Given the description of an element on the screen output the (x, y) to click on. 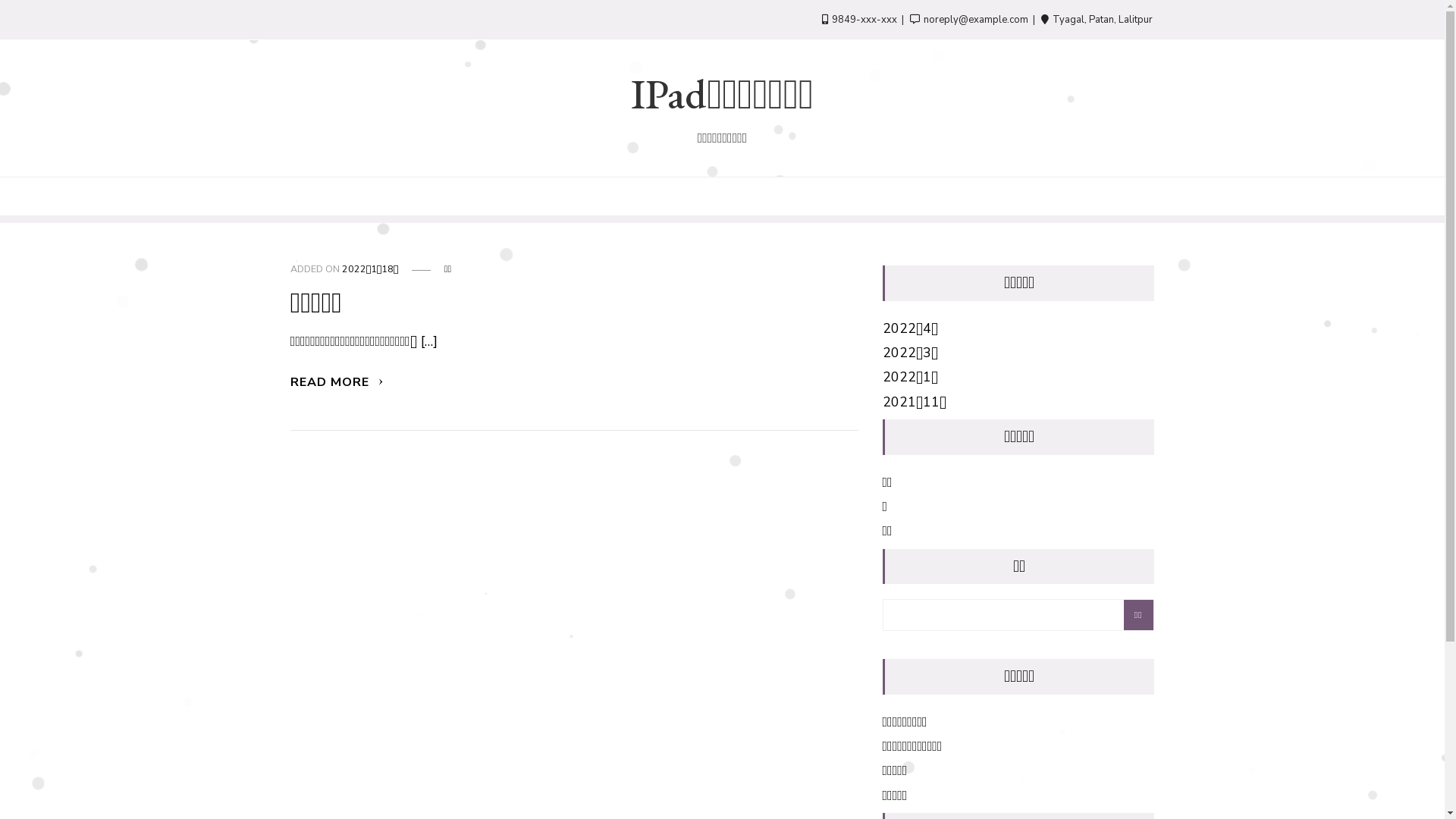
READ MORE Element type: text (337, 382)
